Given the description of an element on the screen output the (x, y) to click on. 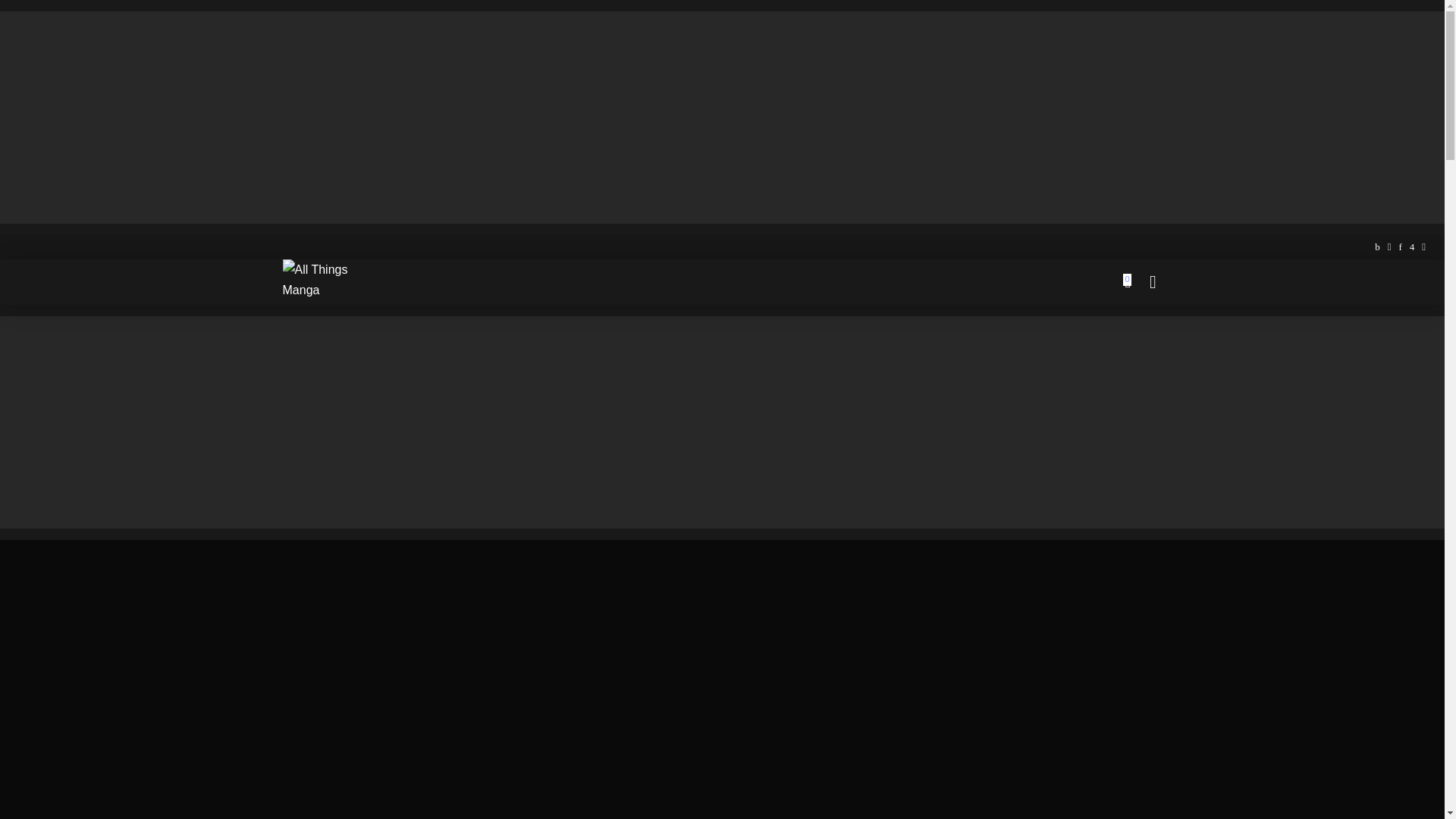
All Things Manga (323, 281)
Search (1140, 324)
Search (1140, 5)
